Given the description of an element on the screen output the (x, y) to click on. 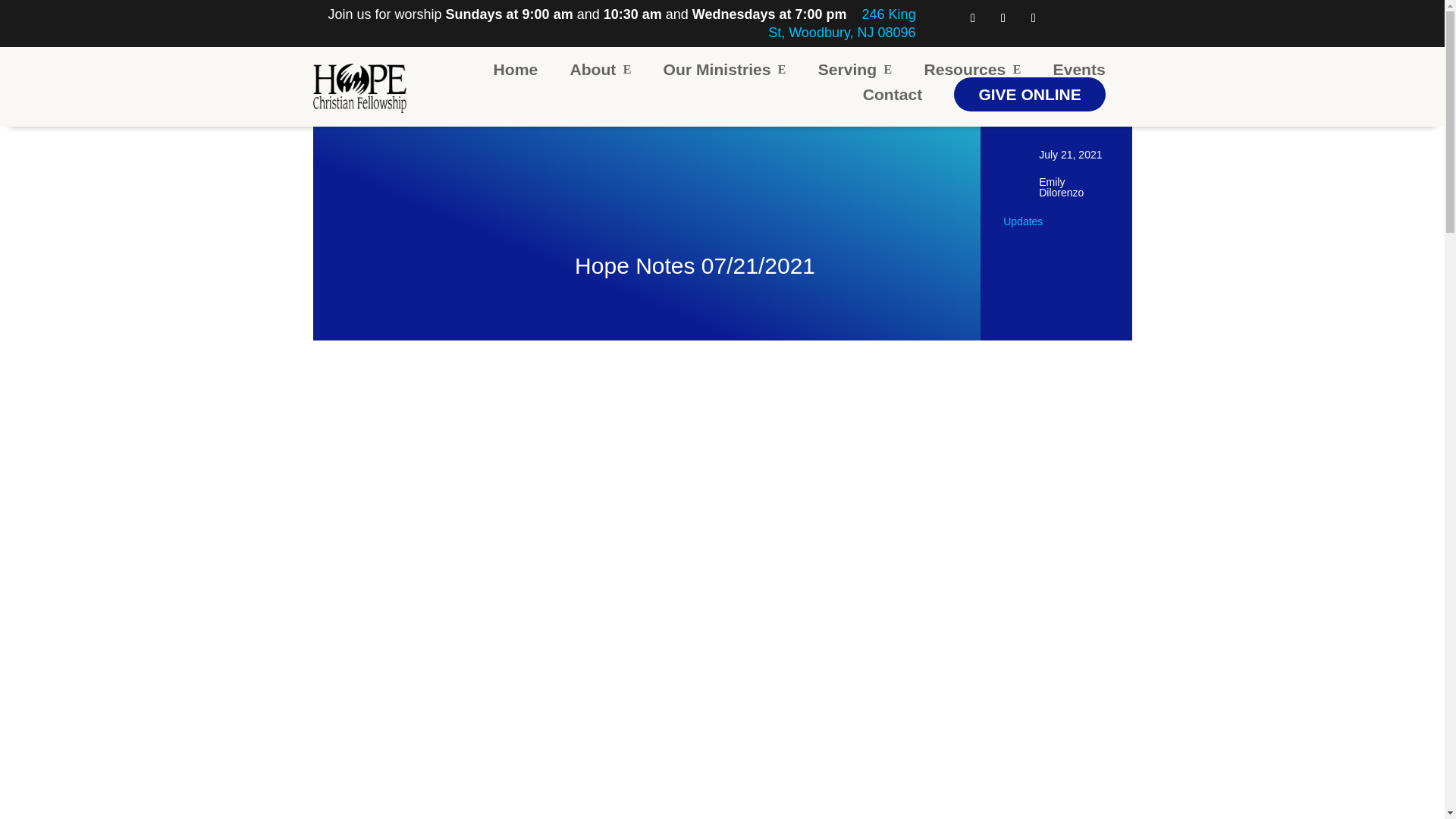
Follow on Youtube (1033, 17)
Follow on Facebook (972, 17)
Serving (854, 69)
About (599, 69)
Our Ministries (724, 69)
GIVE ONLINE (1029, 93)
Home (515, 69)
Resources (971, 69)
Contact (893, 94)
Events (1078, 69)
